Given the description of an element on the screen output the (x, y) to click on. 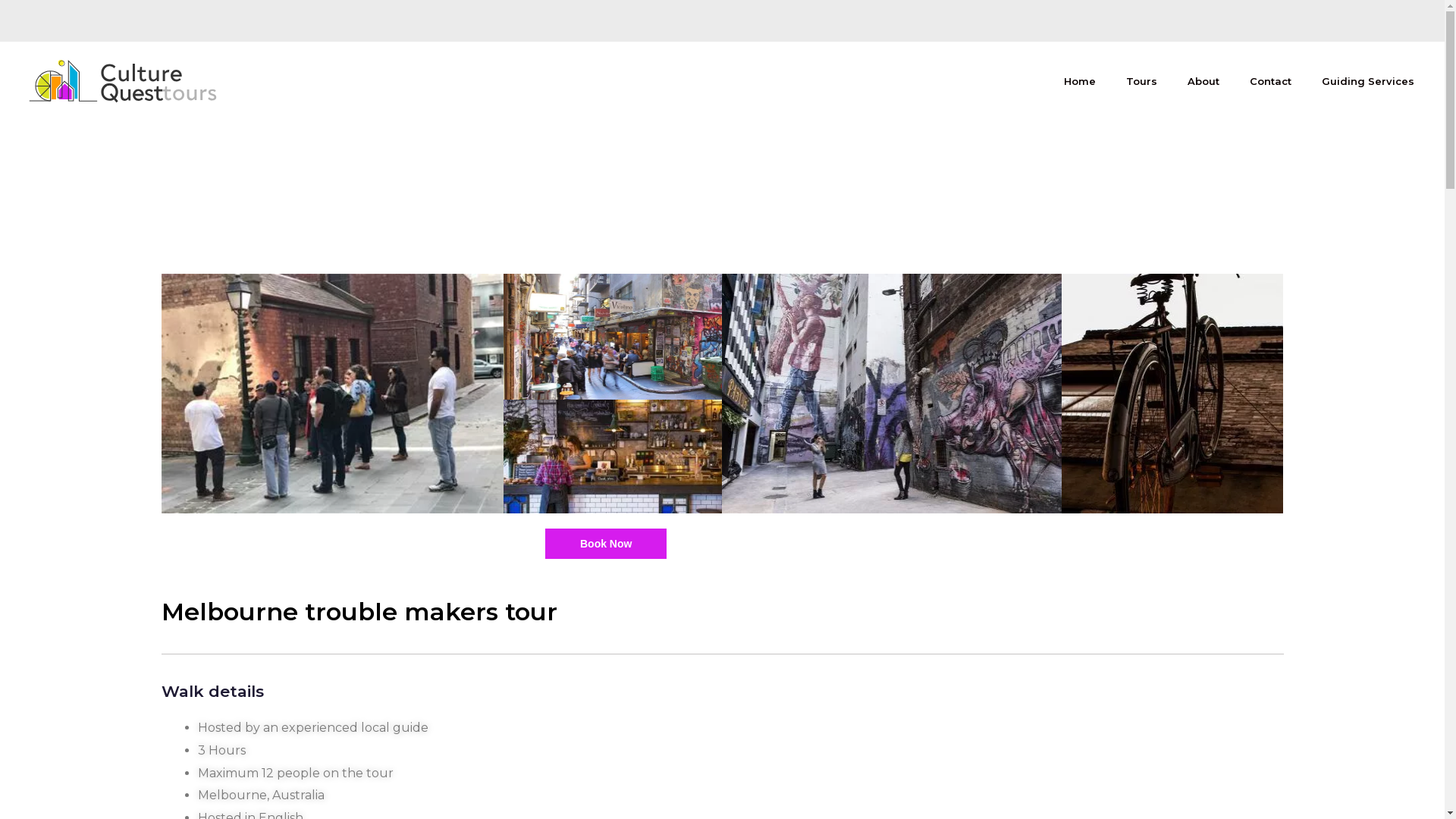
Home Element type: text (1079, 80)
ACDC Lane, Melbourne Element type: hover (891, 393)
About Element type: text (1203, 80)
Book Now Element type: text (605, 543)
Tours Element type: text (1141, 80)
Contact Element type: text (1270, 80)
Guiding Services Element type: text (1367, 80)
